Given the description of an element on the screen output the (x, y) to click on. 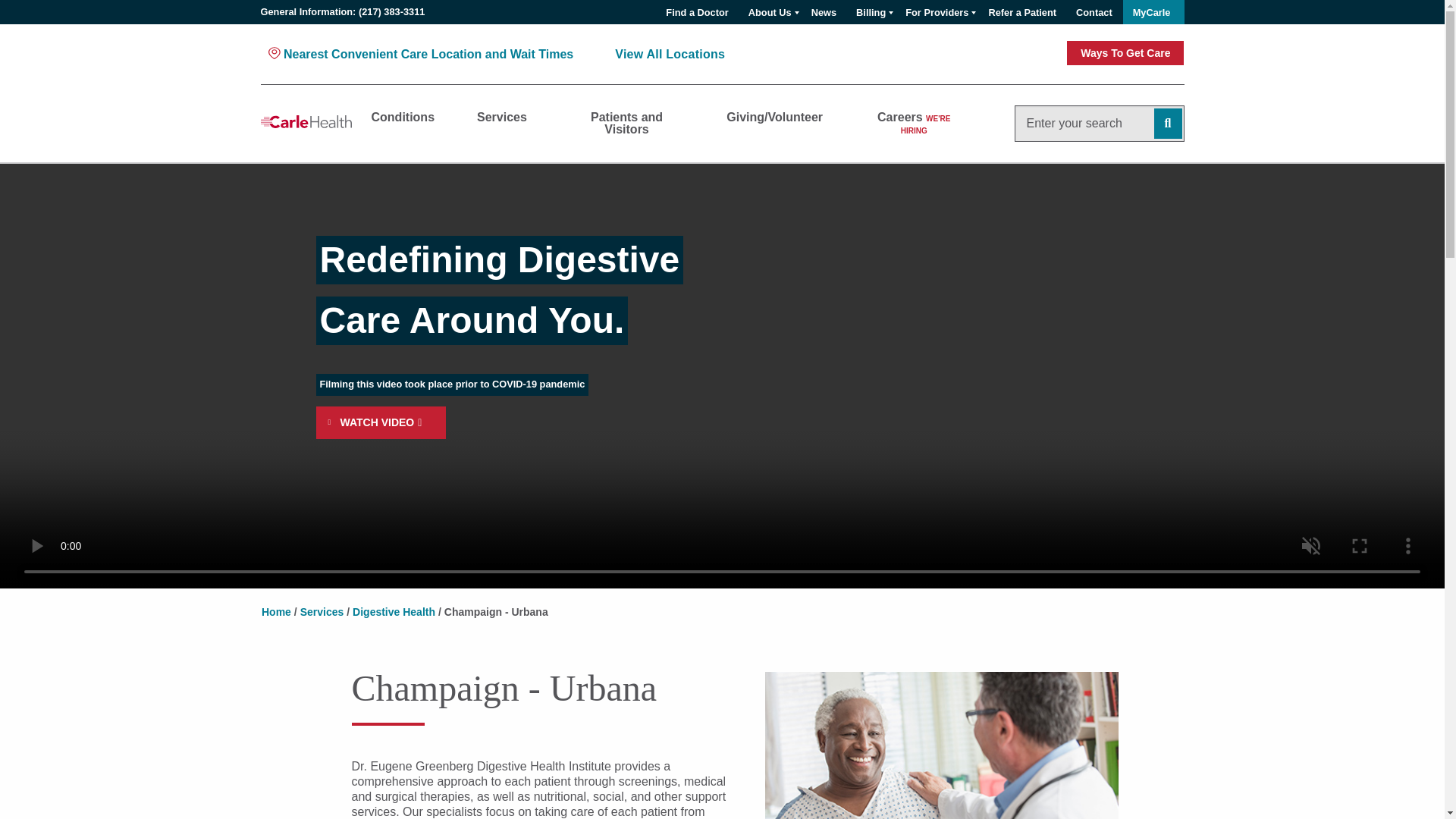
Refer a Patient (1022, 12)
News (822, 12)
Conditions  (403, 117)
Contact (1093, 12)
Find a Doctor (696, 12)
Patients and Visitors (870, 12)
Services (626, 123)
